Given the description of an element on the screen output the (x, y) to click on. 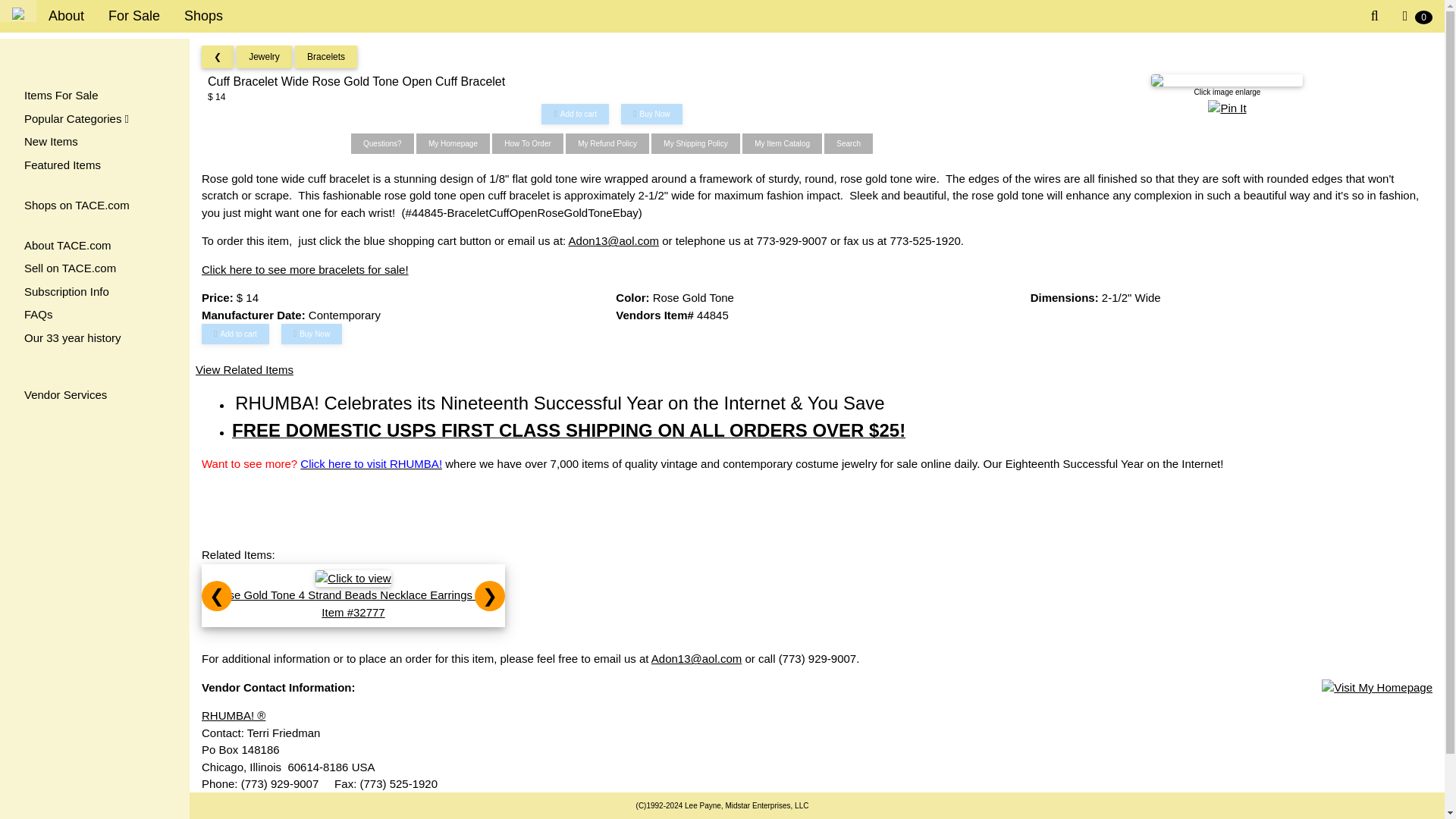
Jewelry (263, 56)
Vendor Services (94, 395)
Shops (202, 16)
Subscription Info (94, 291)
For Sale (133, 16)
Shops on TACE.com (94, 205)
Pin It (1227, 108)
FAQs (94, 314)
Featured Items (94, 165)
Our 33 year history (94, 338)
